Given the description of an element on the screen output the (x, y) to click on. 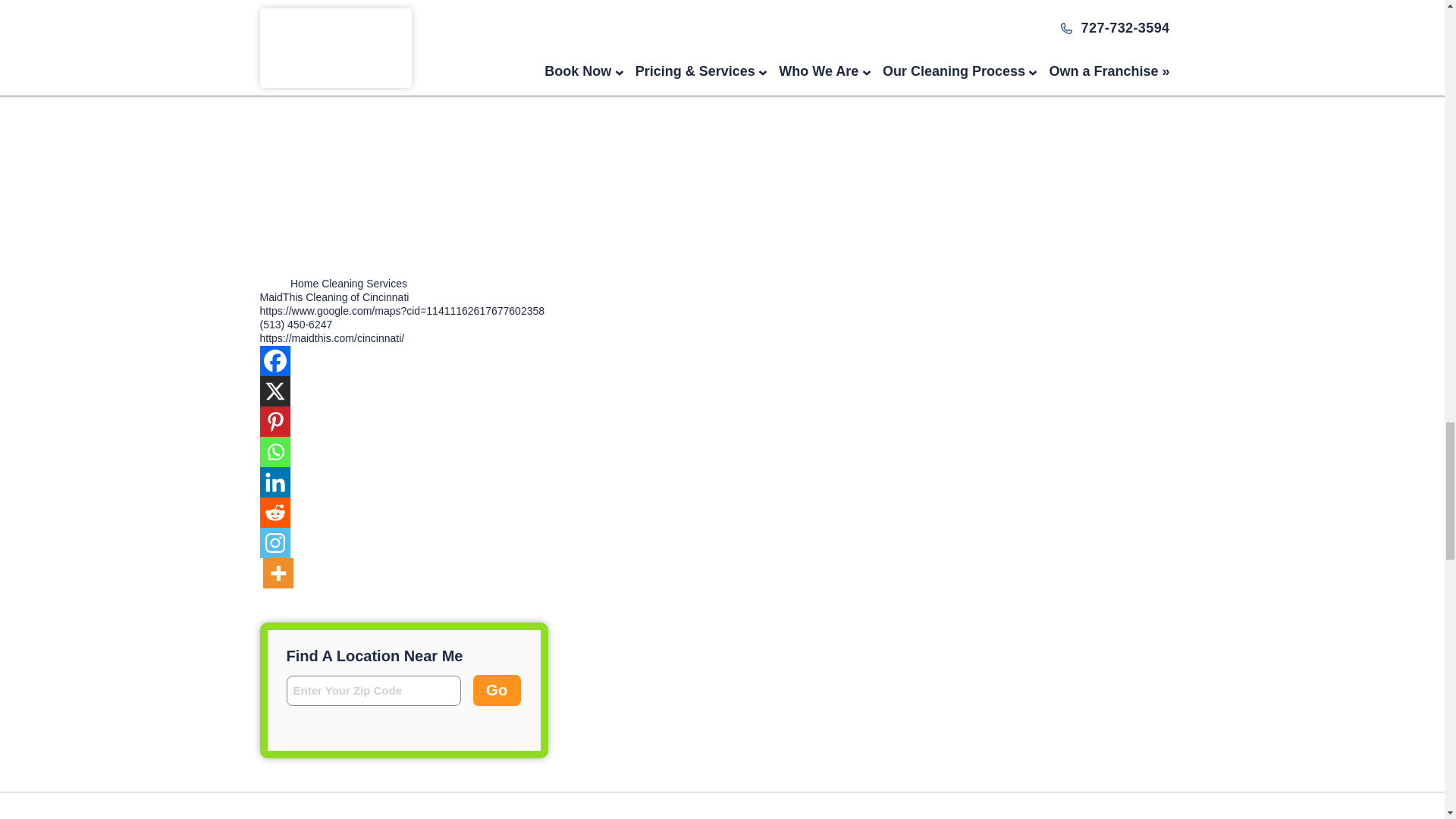
Go (496, 690)
Pinterest (274, 421)
Facebook (274, 360)
Reddit (274, 512)
Whatsapp (274, 451)
X (274, 390)
Linkedin (274, 481)
